Given the description of an element on the screen output the (x, y) to click on. 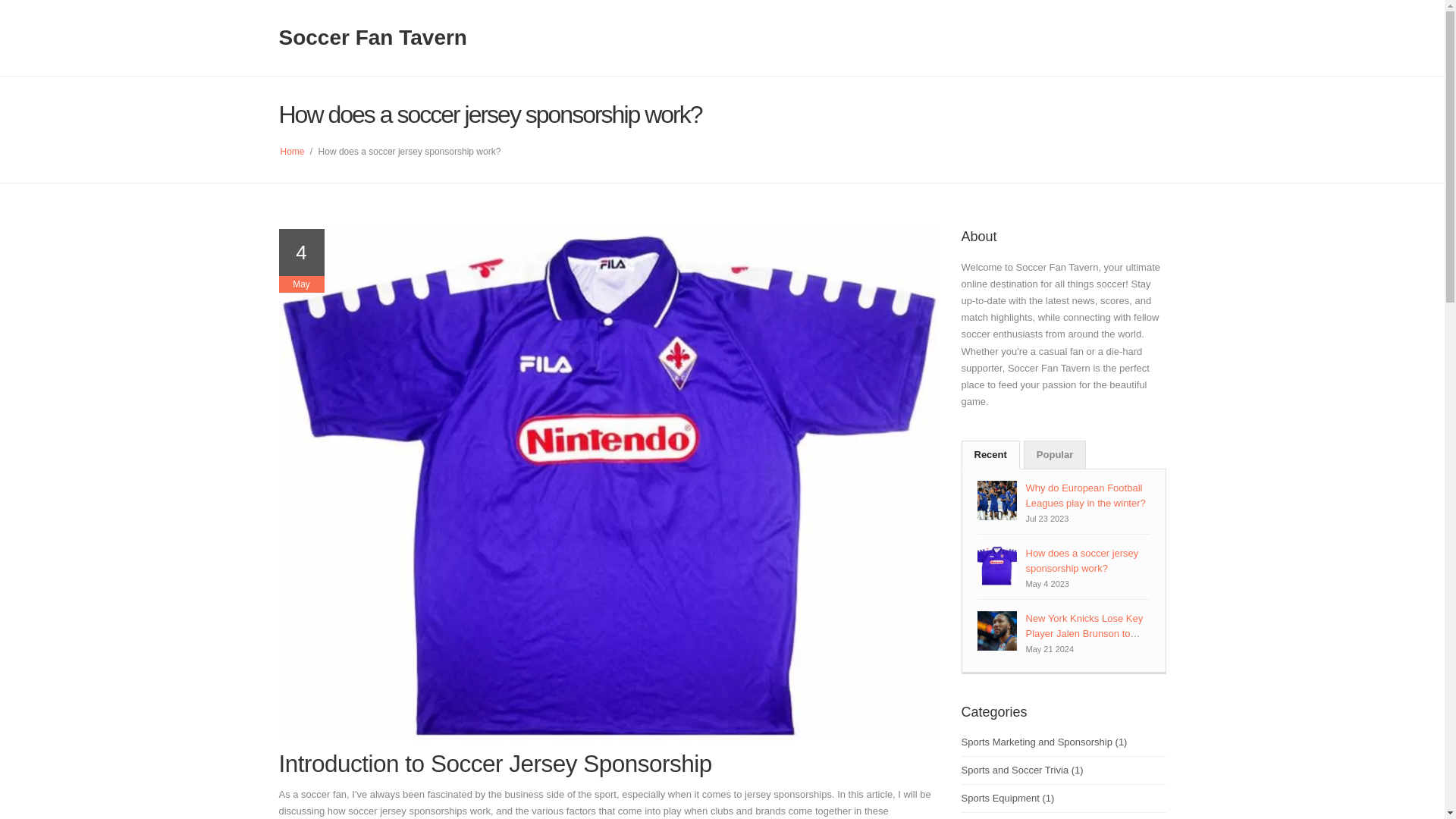
Soccer Fan Tavern (373, 37)
Home (292, 151)
How does a soccer jersey sponsorship work? (1081, 560)
Why do European Football Leagues play in the winter? (1084, 495)
